Given the description of an element on the screen output the (x, y) to click on. 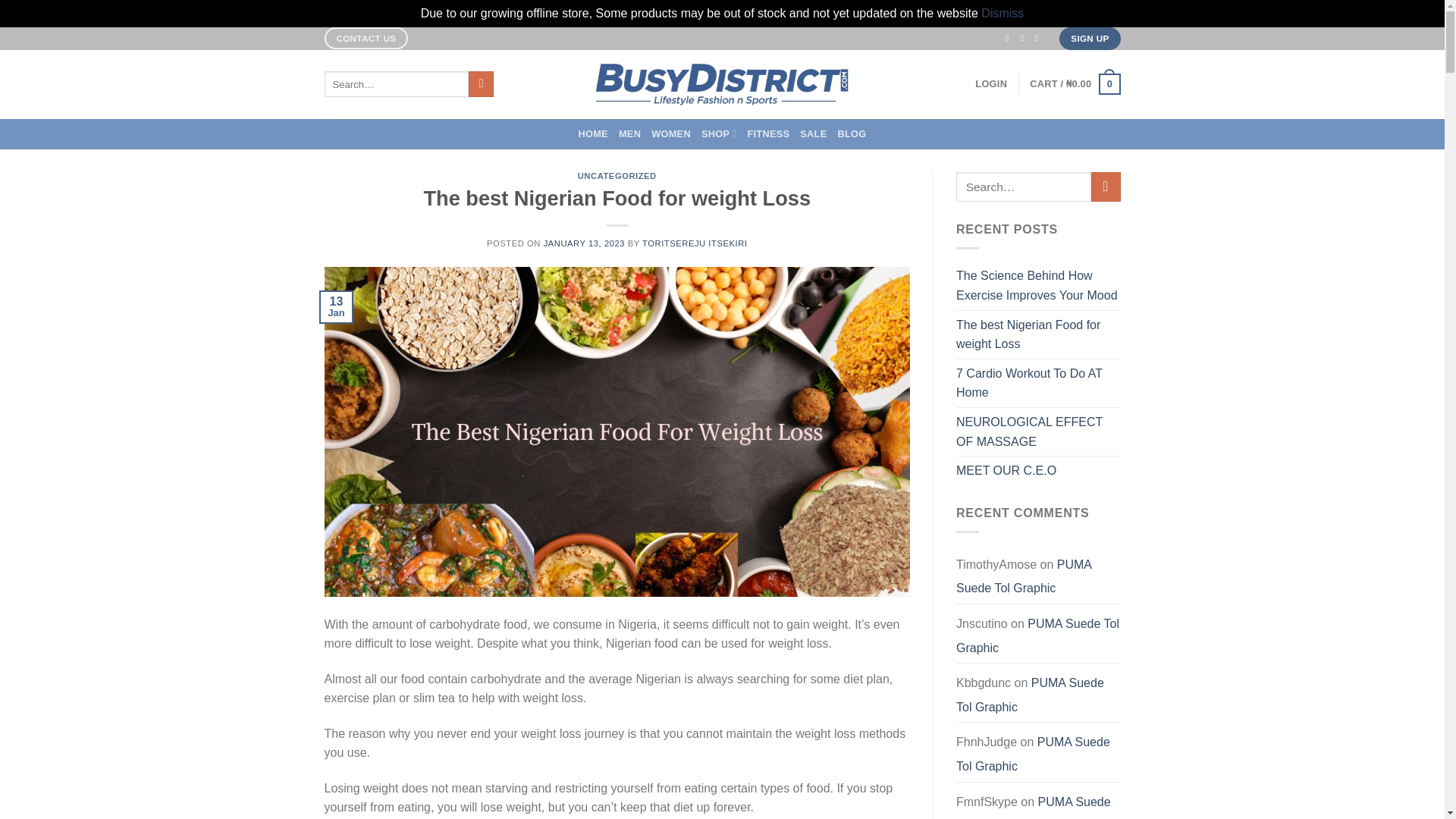
JANUARY 13, 2023 (583, 243)
TORITSEREJU ITSEKIRI (694, 243)
BLOG (851, 133)
Search (480, 84)
LOGIN (991, 83)
SHOP (718, 133)
CONTACT US (366, 38)
FITNESS (767, 133)
Busy District - Nigeria's online store for active wears (722, 84)
Dismiss (1002, 12)
Cart (1074, 84)
SIGN UP (1089, 38)
HOME (592, 133)
UNCATEGORIZED (617, 175)
WOMEN (670, 133)
